Given the description of an element on the screen output the (x, y) to click on. 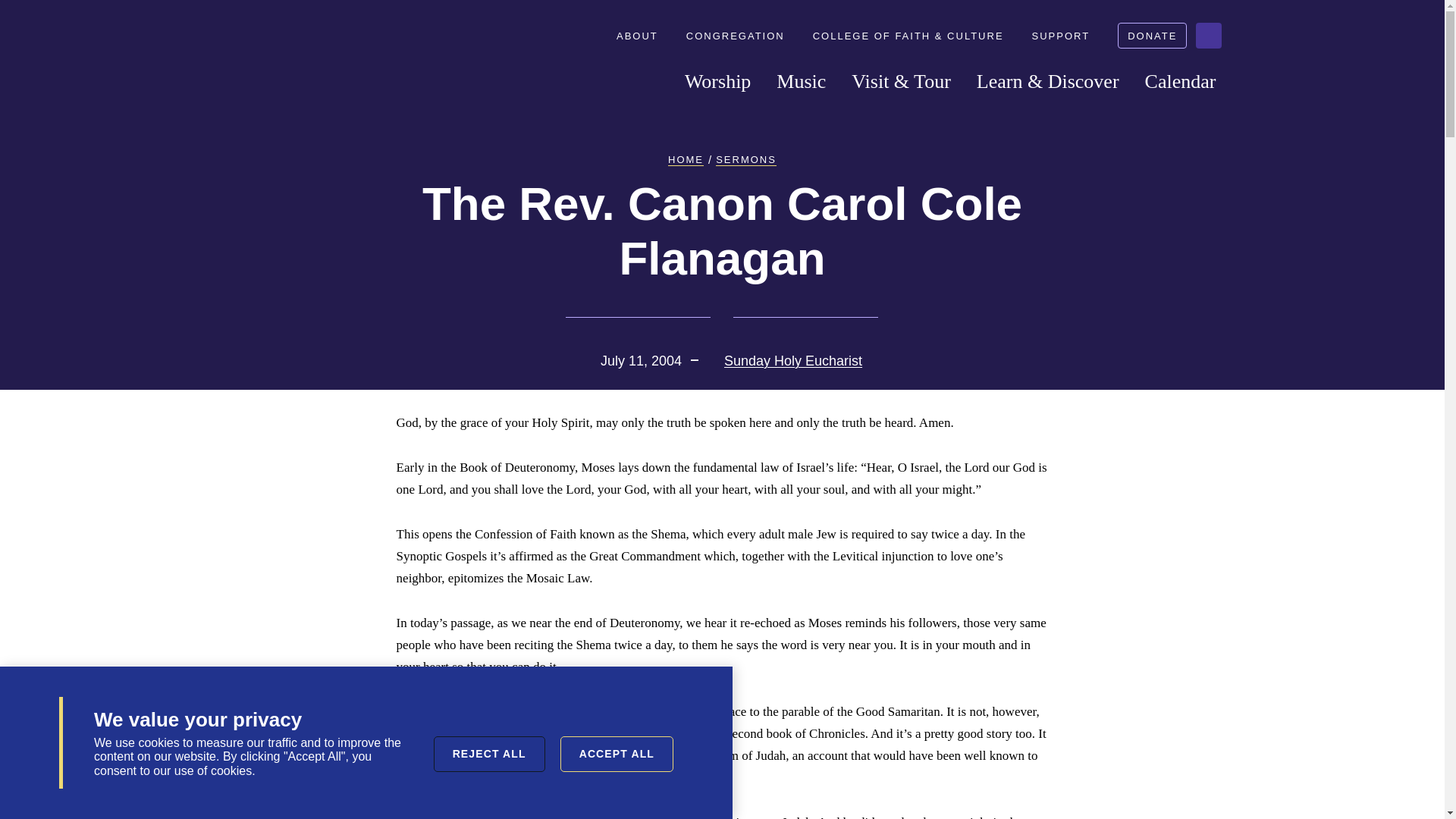
DONATE (1152, 35)
Worship (717, 81)
ABOUT (640, 36)
CONGREGATION (739, 36)
SUPPORT (1065, 36)
SEARCH (1208, 35)
